Given the description of an element on the screen output the (x, y) to click on. 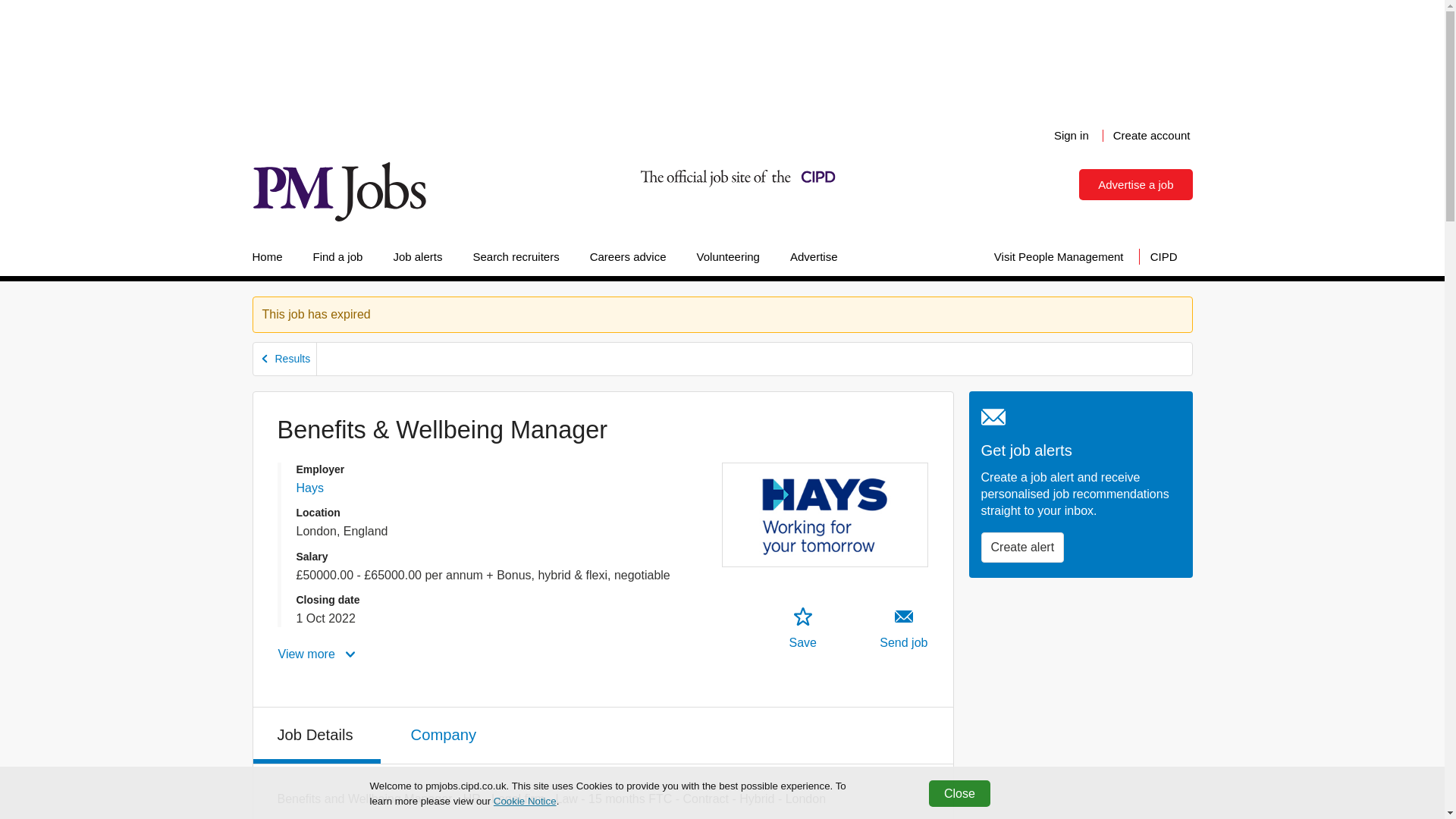
View more (318, 654)
CIPD (1163, 256)
Create account (1151, 135)
Job Details (316, 735)
Hays (309, 487)
Job alerts (417, 256)
Careers advice (628, 256)
Company (445, 733)
Volunteering (727, 256)
Advertise a job (1135, 183)
Results (285, 359)
People Management Jobs (338, 191)
Search recruiters (515, 256)
Find a job (338, 256)
Home (274, 256)
